Given the description of an element on the screen output the (x, y) to click on. 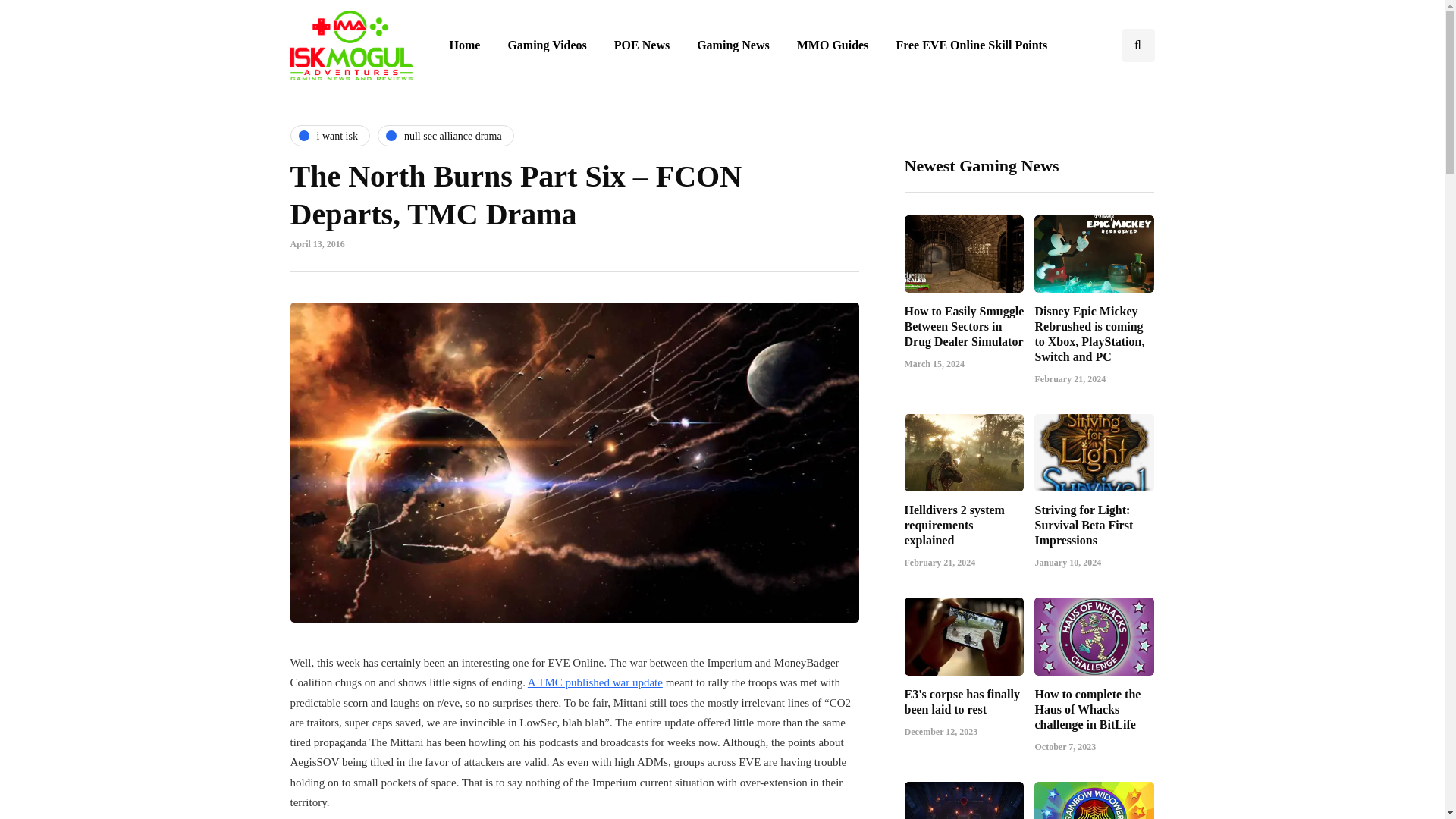
Gaming Videos (546, 45)
MMO Guides (832, 45)
Free EVE Online Skill Points (971, 45)
POE News (640, 45)
Home (464, 45)
Gaming News (732, 45)
